Given the description of an element on the screen output the (x, y) to click on. 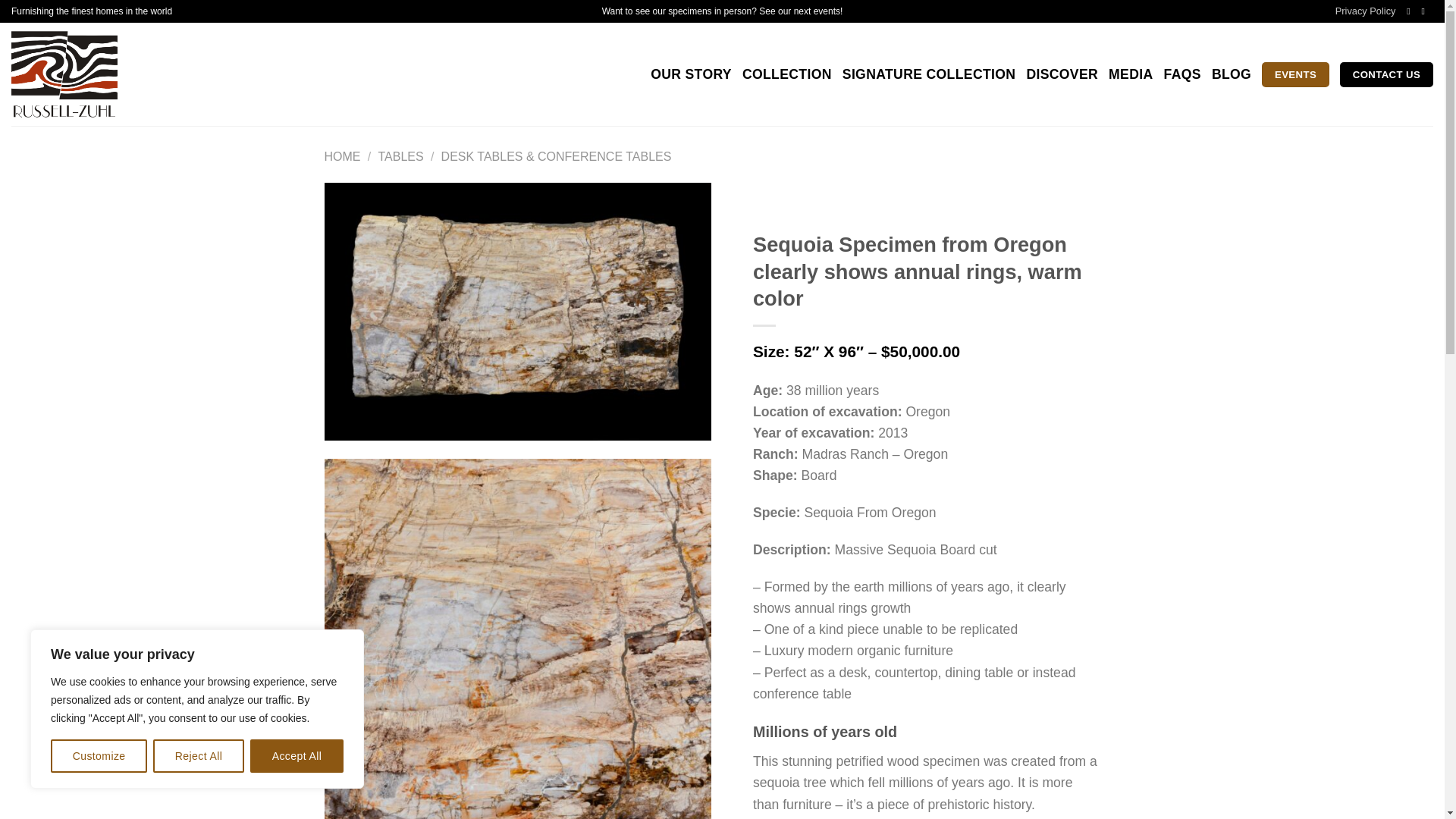
Privacy Policy (1365, 11)
Reject All (198, 756)
EVENTS (1295, 74)
HOME (342, 155)
MEDIA (1130, 73)
OUR STORY (691, 73)
SIGNATURE COLLECTION (929, 73)
CONTACT US (1385, 74)
Russell Zuhl - Welcome to Russell Zuhl Petrified Wood (98, 74)
Customize (98, 756)
BLOG (1230, 73)
COLLECTION (786, 73)
FAQS (1182, 73)
